Given the description of an element on the screen output the (x, y) to click on. 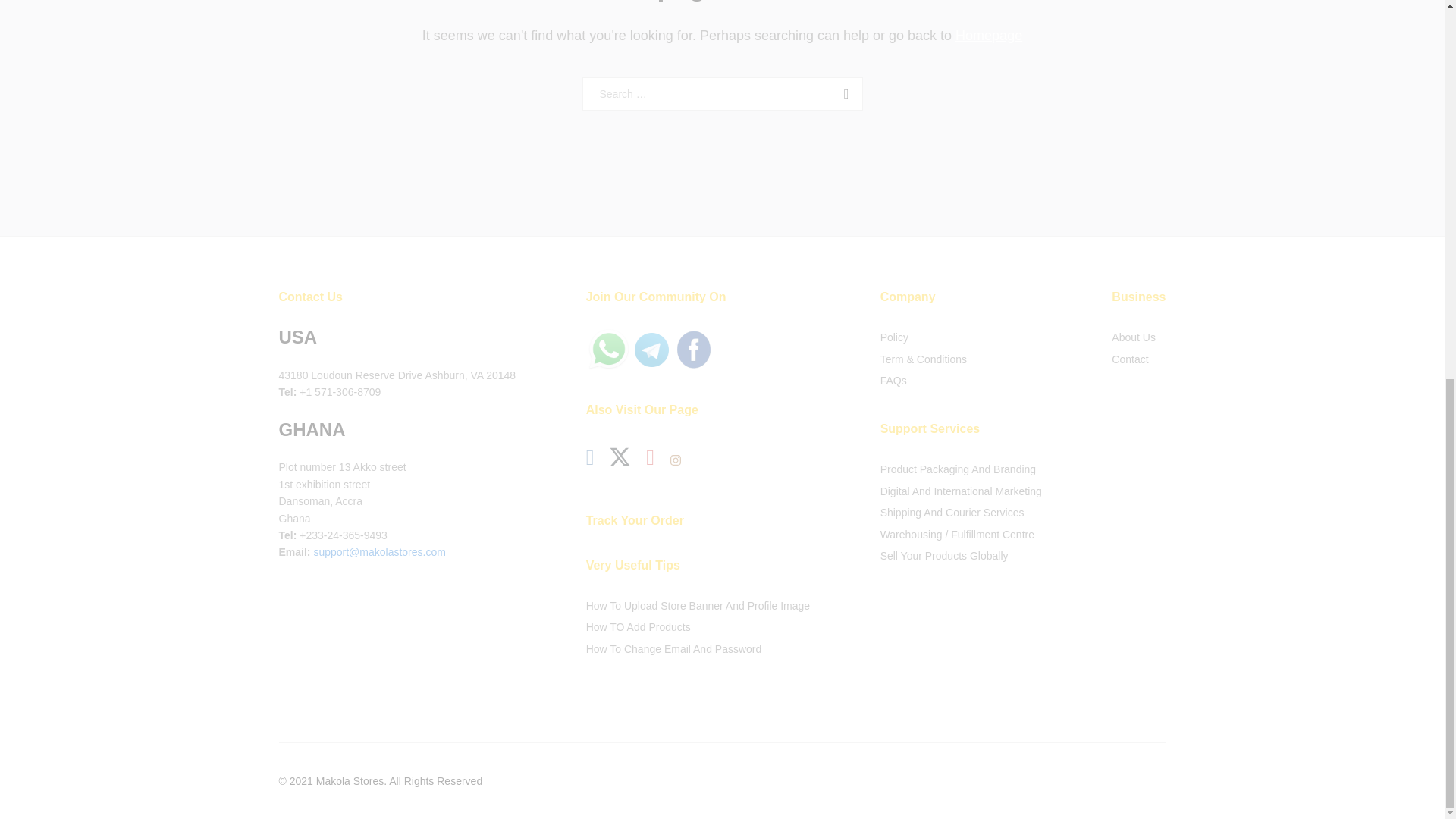
Search (843, 93)
Instagram (675, 460)
Twitter (620, 457)
Search (843, 93)
